Given the description of an element on the screen output the (x, y) to click on. 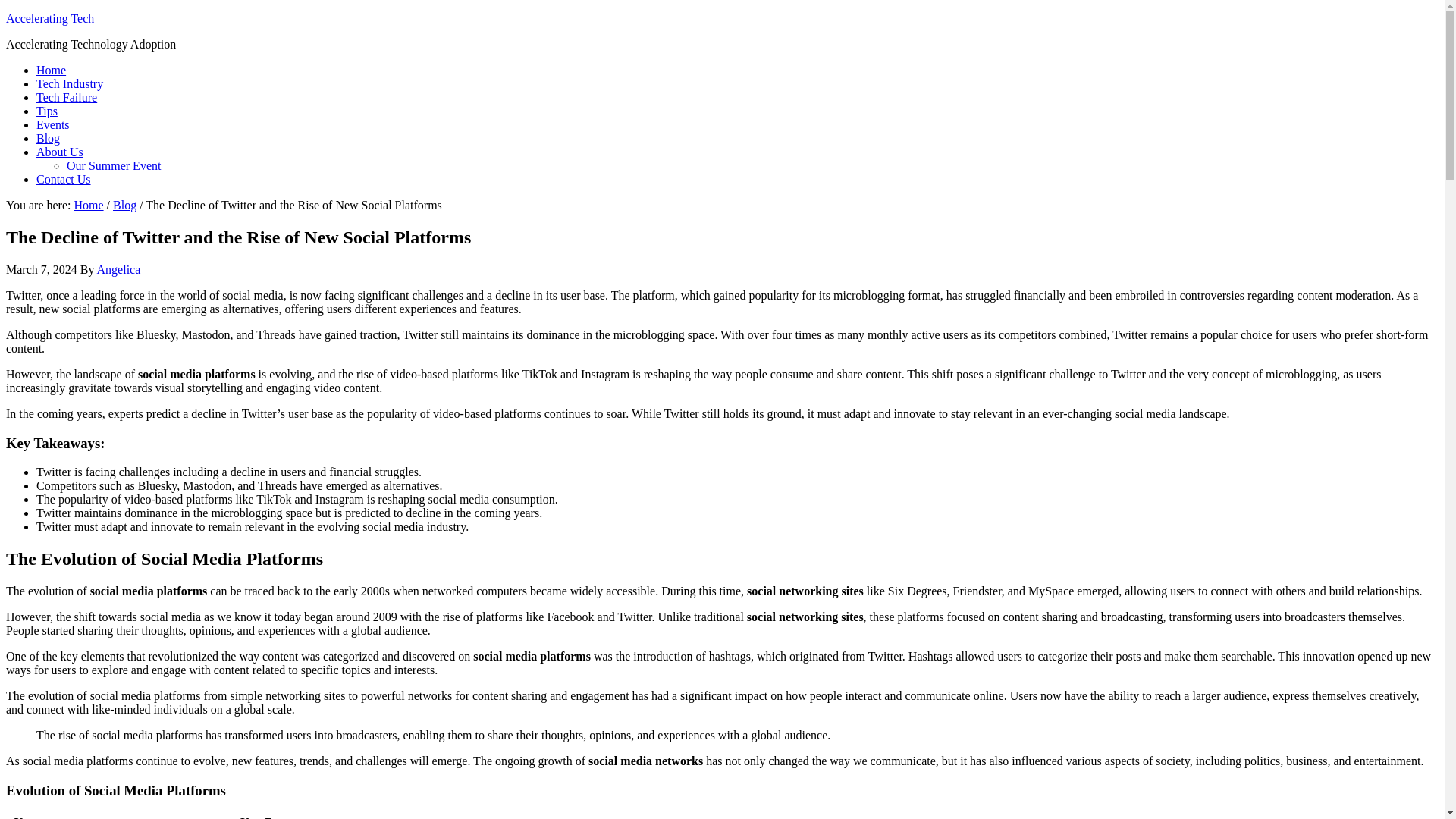
Home (88, 205)
About Us (59, 151)
Accelerating Tech (49, 18)
Tech Failure (66, 97)
Blog (47, 137)
Contact Us (63, 178)
Our Summer Event (113, 164)
Events (52, 124)
Tips (47, 110)
Blog (124, 205)
Angelica (119, 269)
Home (50, 69)
Tech Industry (69, 83)
